Given the description of an element on the screen output the (x, y) to click on. 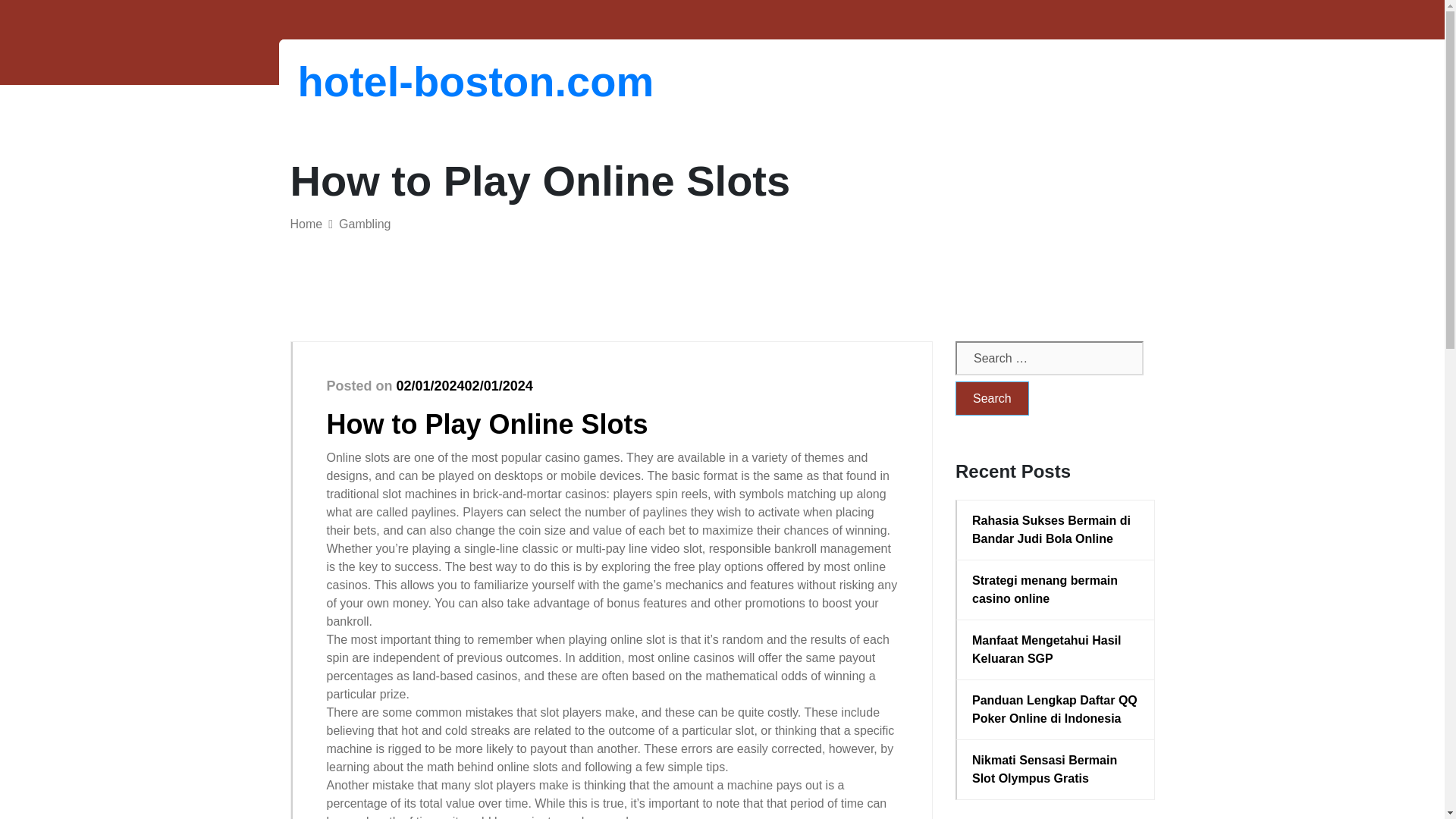
Home (305, 223)
Strategi menang bermain casino online (1055, 589)
Panduan Lengkap Daftar QQ Poker Online di Indonesia (1055, 709)
Gambling (364, 223)
Manfaat Mengetahui Hasil Keluaran SGP (1055, 649)
Search (992, 398)
Nikmati Sensasi Bermain Slot Olympus Gratis (1055, 769)
How to Play Online Slots (486, 423)
hotel-boston.com (376, 81)
Search (992, 398)
